Given the description of an element on the screen output the (x, y) to click on. 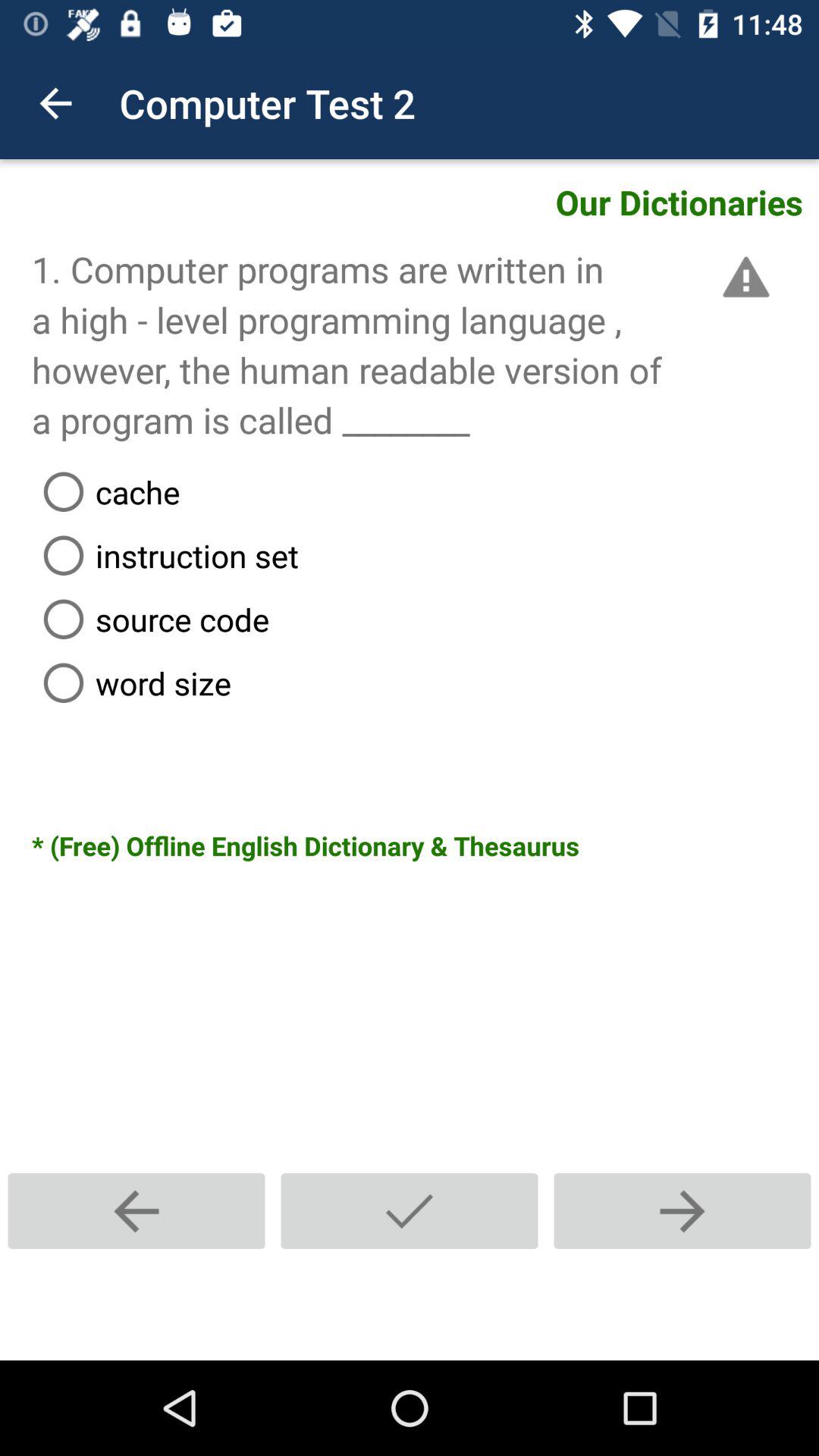
submit the multiple choice answer (409, 1210)
